Given the description of an element on the screen output the (x, y) to click on. 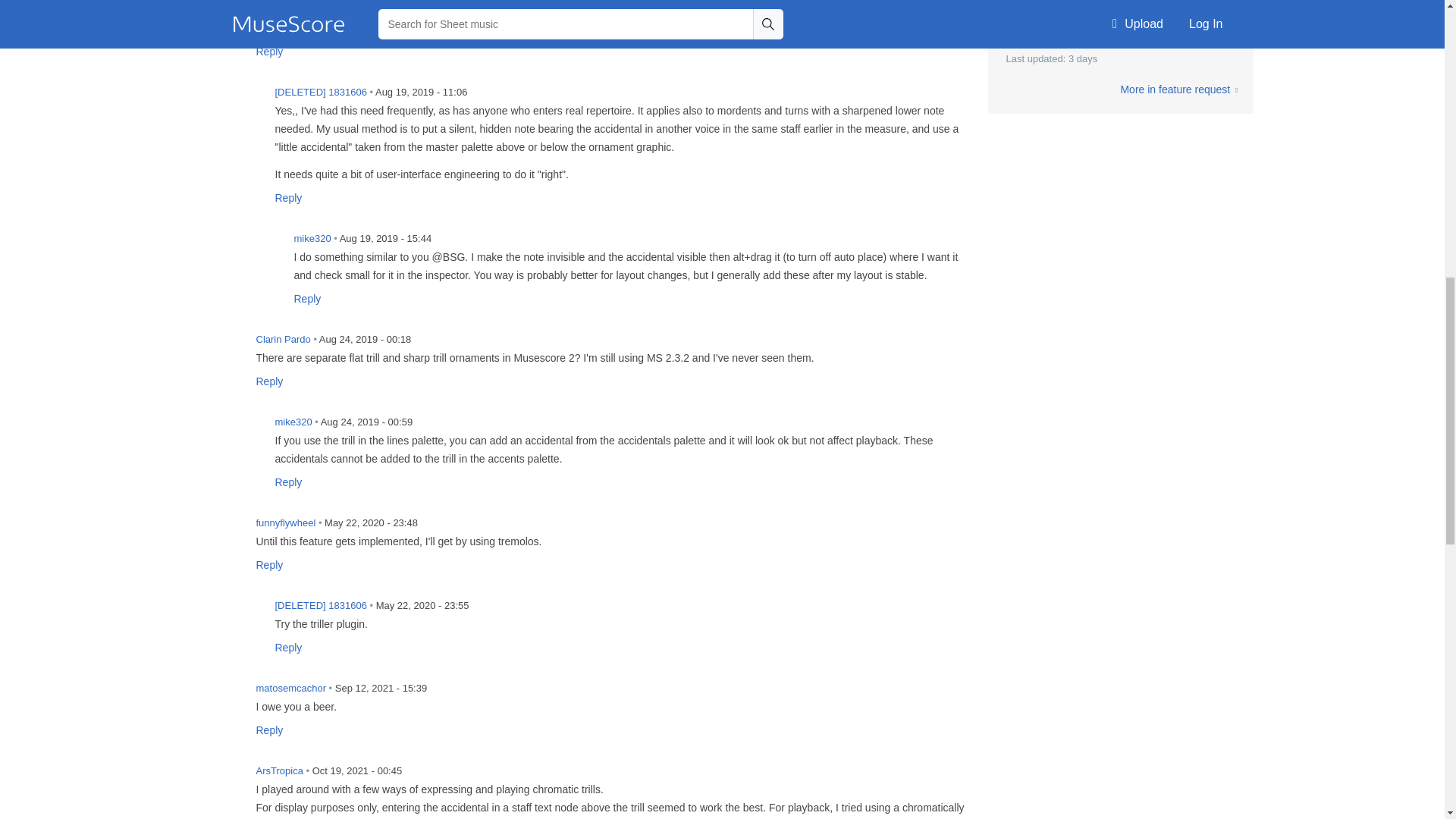
ArsTropica (229, 779)
funnyflywheel (229, 531)
mike320 (266, 247)
matosemcachor (229, 697)
Jojo-Schmitz (229, 19)
Clarin Pardo (229, 348)
mike320 (247, 431)
